Given the description of an element on the screen output the (x, y) to click on. 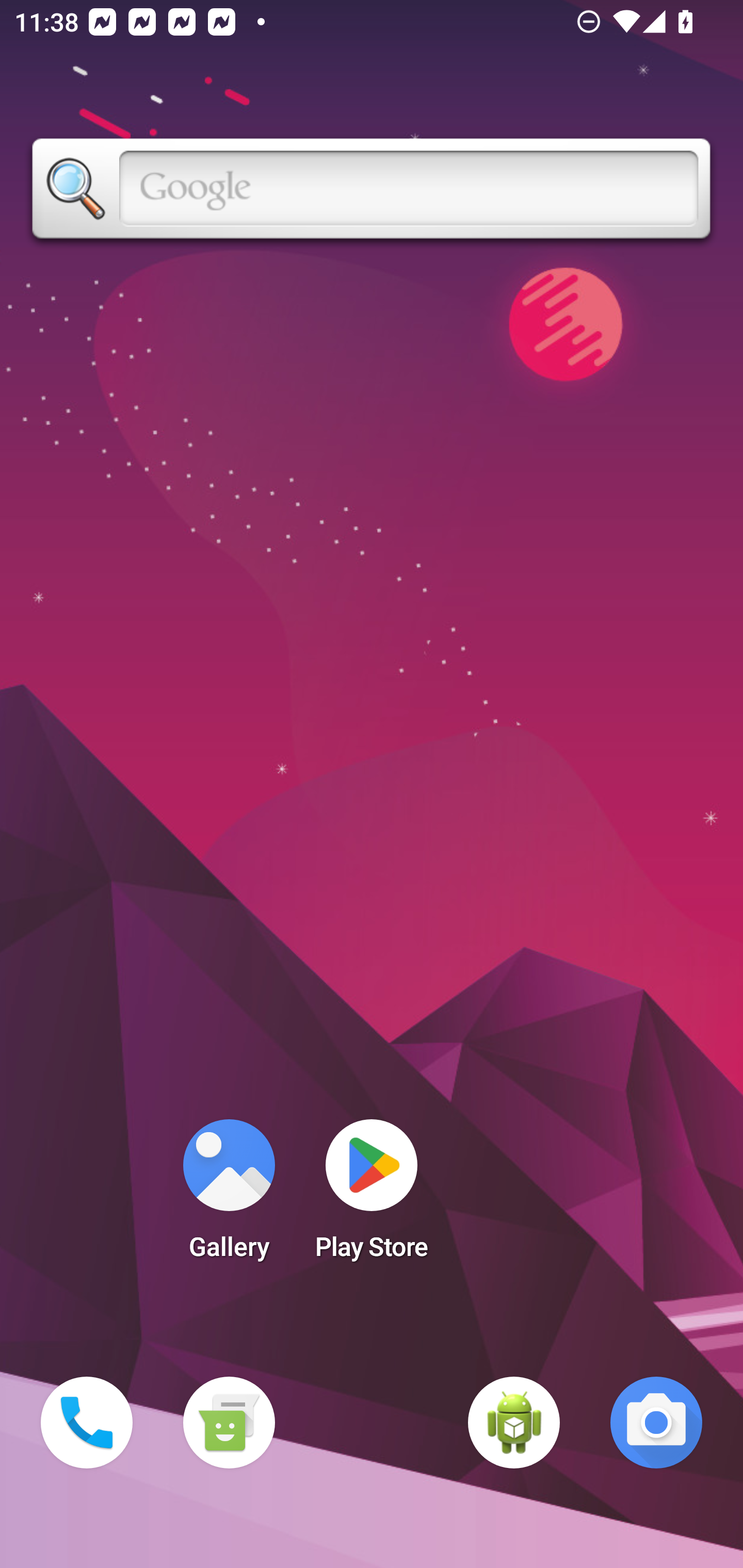
Gallery (228, 1195)
Play Store (371, 1195)
Phone (86, 1422)
Messaging (228, 1422)
WebView Browser Tester (513, 1422)
Camera (656, 1422)
